Given the description of an element on the screen output the (x, y) to click on. 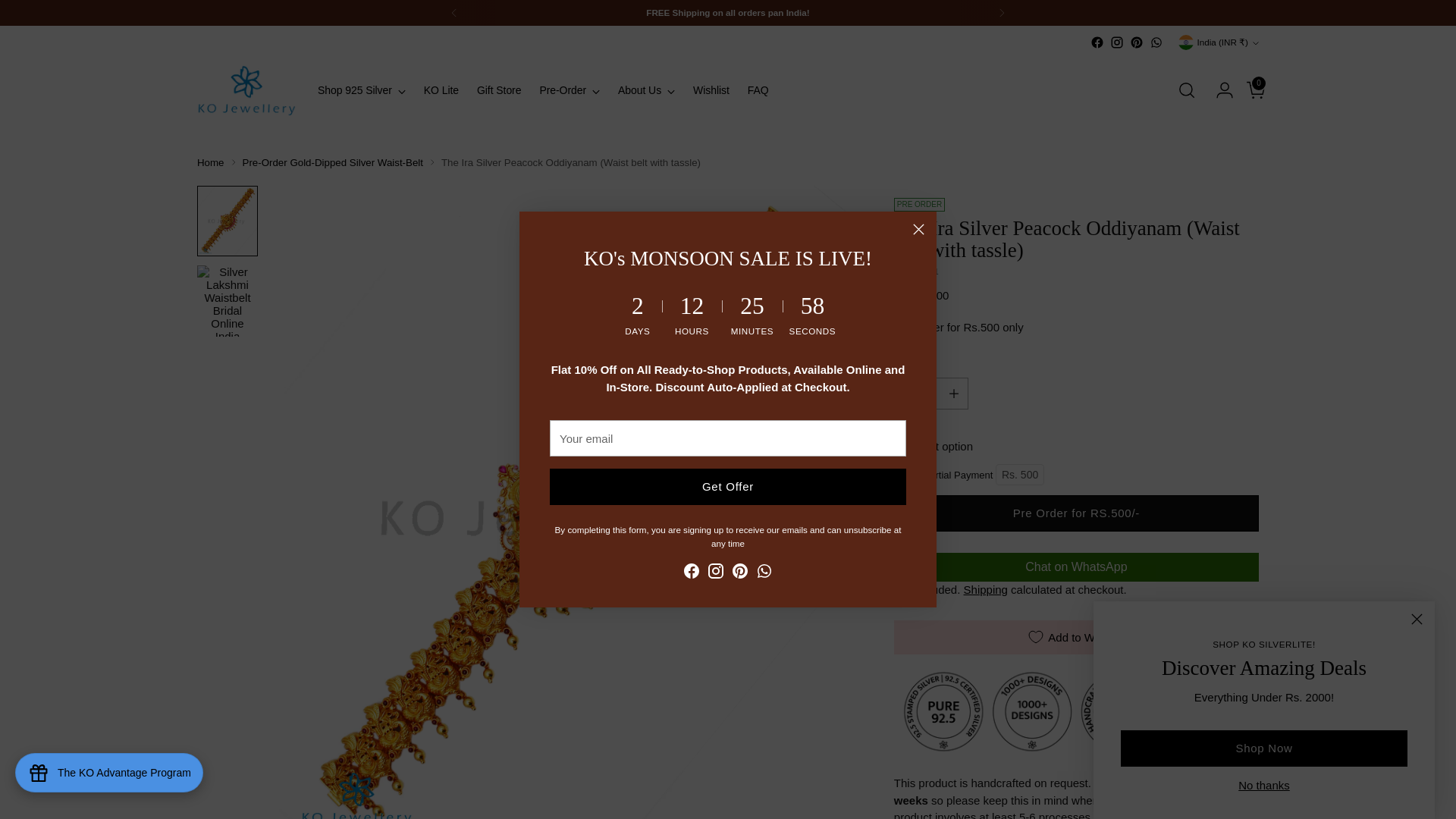
Next (1001, 12)
KO Jewellery on Instagram (1116, 42)
Previous (454, 12)
1 (930, 393)
KO Jewellery on Facebook (1096, 42)
KO Jewellery on Pinterest (1135, 42)
KO Jewellery on WhatsApp (1156, 42)
